Given the description of an element on the screen output the (x, y) to click on. 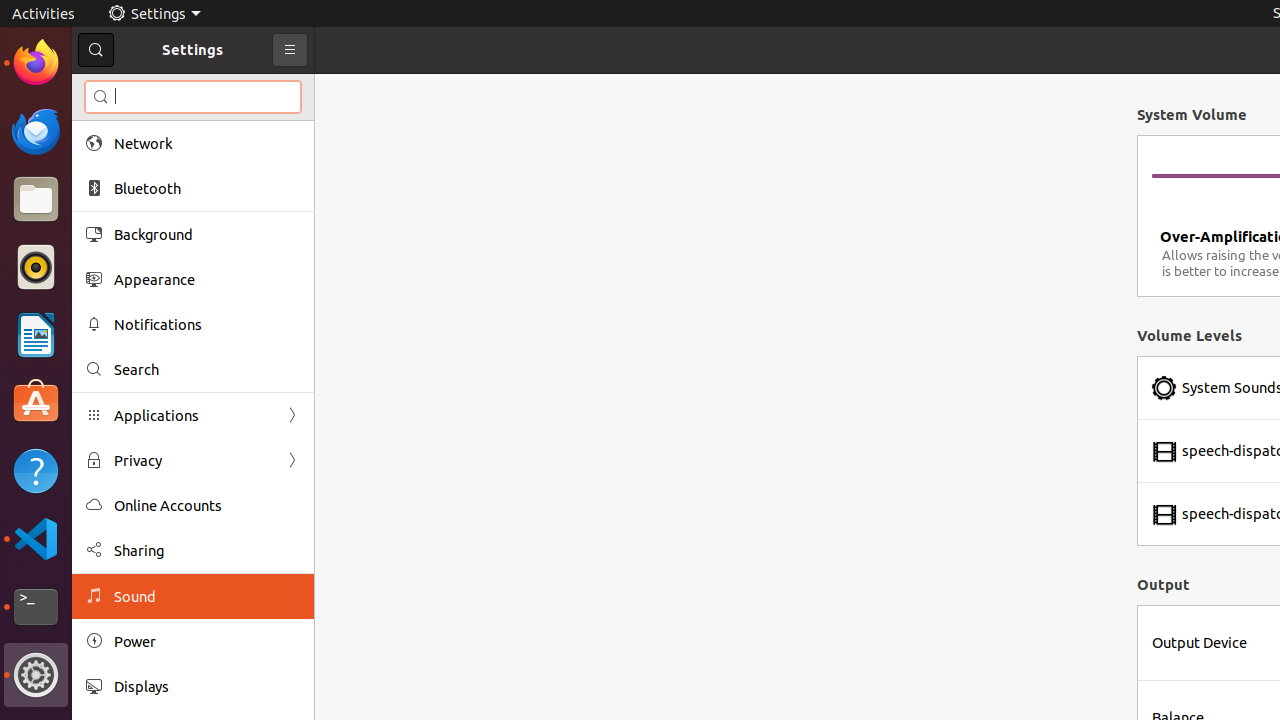
Background Element type: label (207, 234)
Bluetooth Element type: label (207, 188)
Activities Element type: label (43, 13)
luyi1 Element type: label (133, 89)
